Given the description of an element on the screen output the (x, y) to click on. 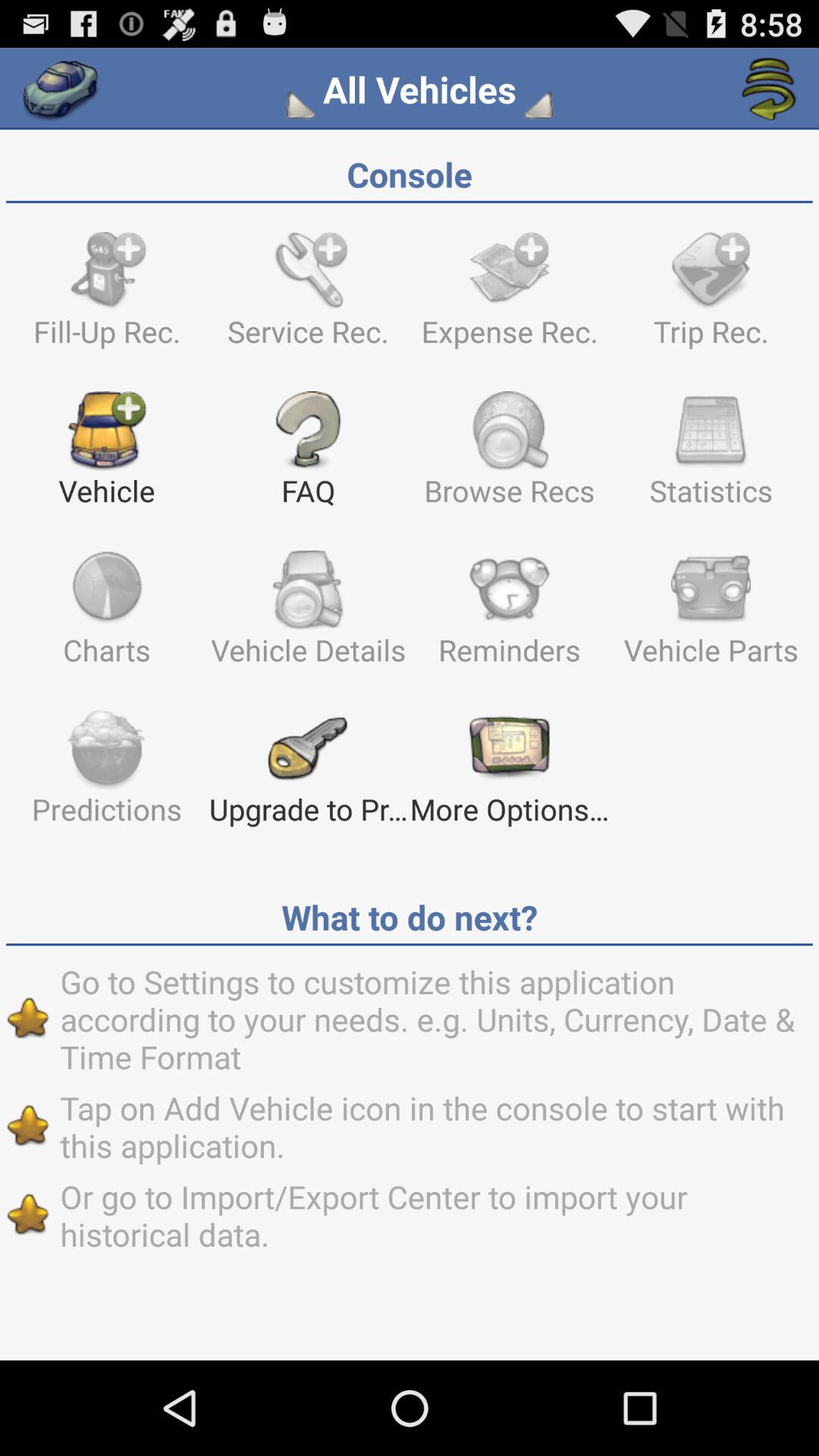
select vechicle (60, 89)
